Given the description of an element on the screen output the (x, y) to click on. 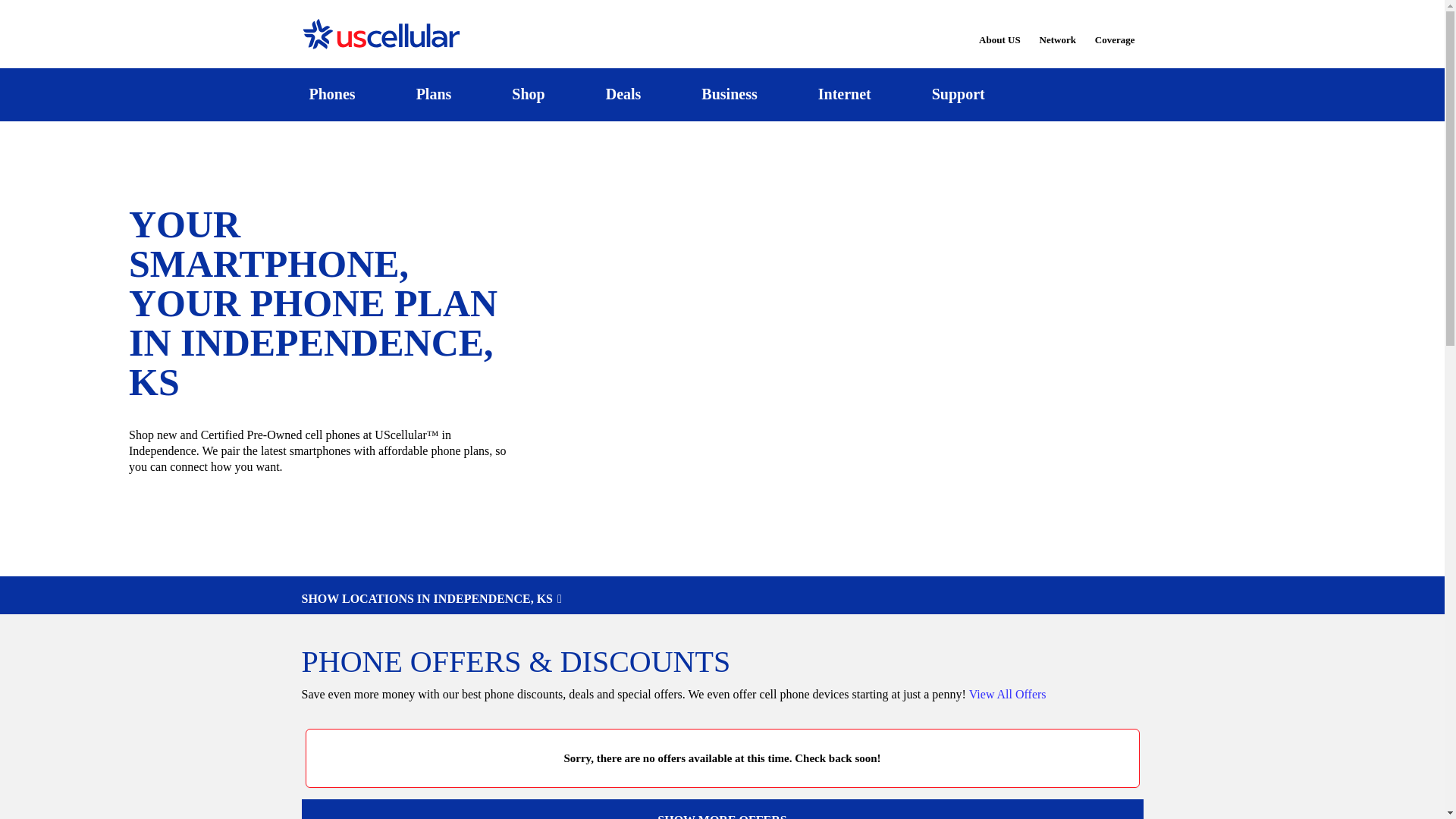
Internet (844, 94)
Support (957, 94)
Coverage (1115, 29)
Deals (623, 94)
Plans (433, 94)
Shop (528, 94)
SHOW LOCATIONS IN INDEPENDENCE, KS (722, 598)
Network (1057, 30)
About US (999, 30)
Phones (332, 94)
